Given the description of an element on the screen output the (x, y) to click on. 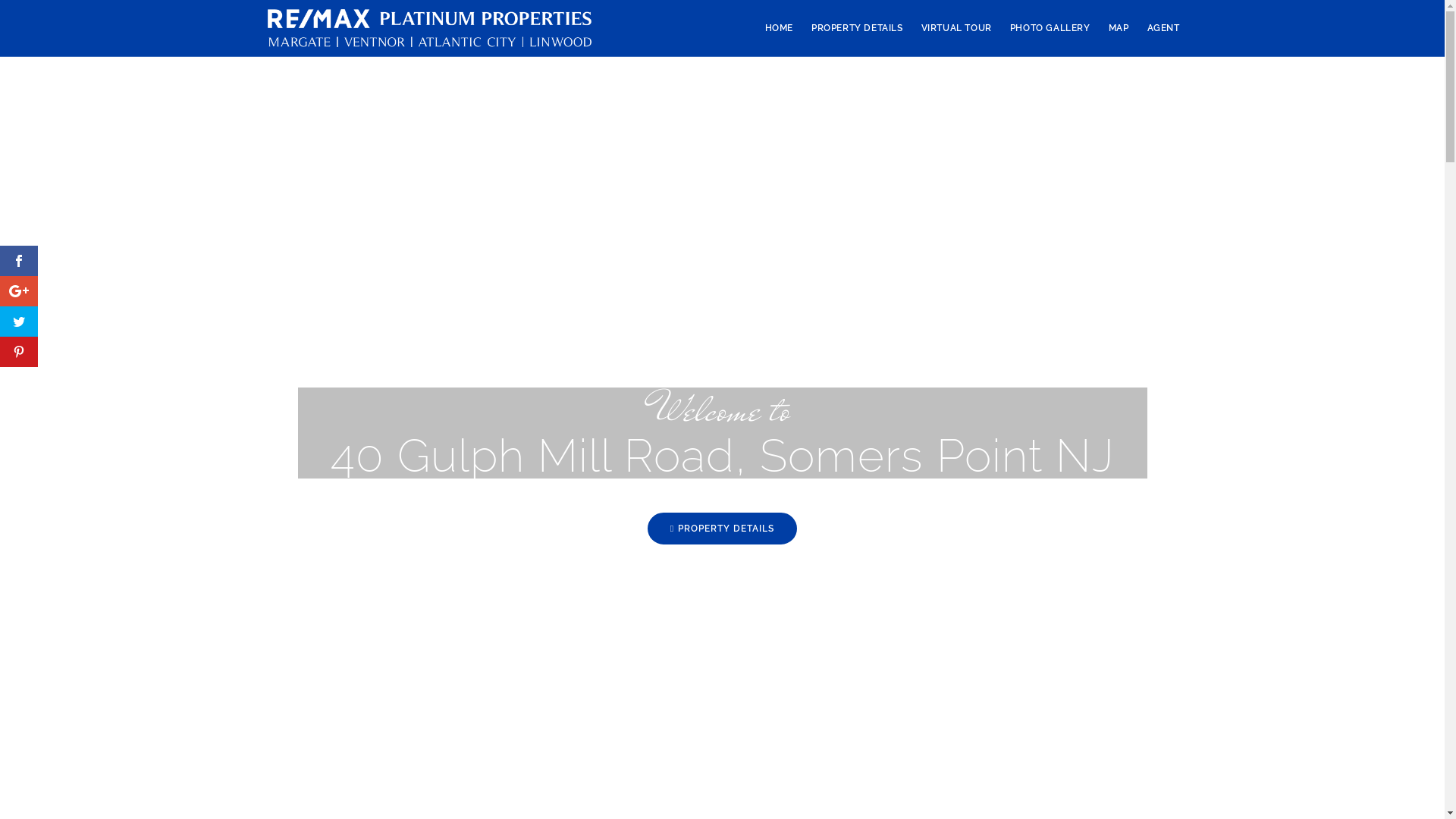
MAP Element type: text (1118, 28)
PHOTO GALLERY Element type: text (1050, 28)
PROPERTY DETAILS Element type: text (722, 528)
AGENT Element type: text (1162, 28)
HOME Element type: text (779, 28)
PROPERTY DETAILS Element type: text (857, 28)
VIRTUAL TOUR Element type: text (956, 28)
